Given the description of an element on the screen output the (x, y) to click on. 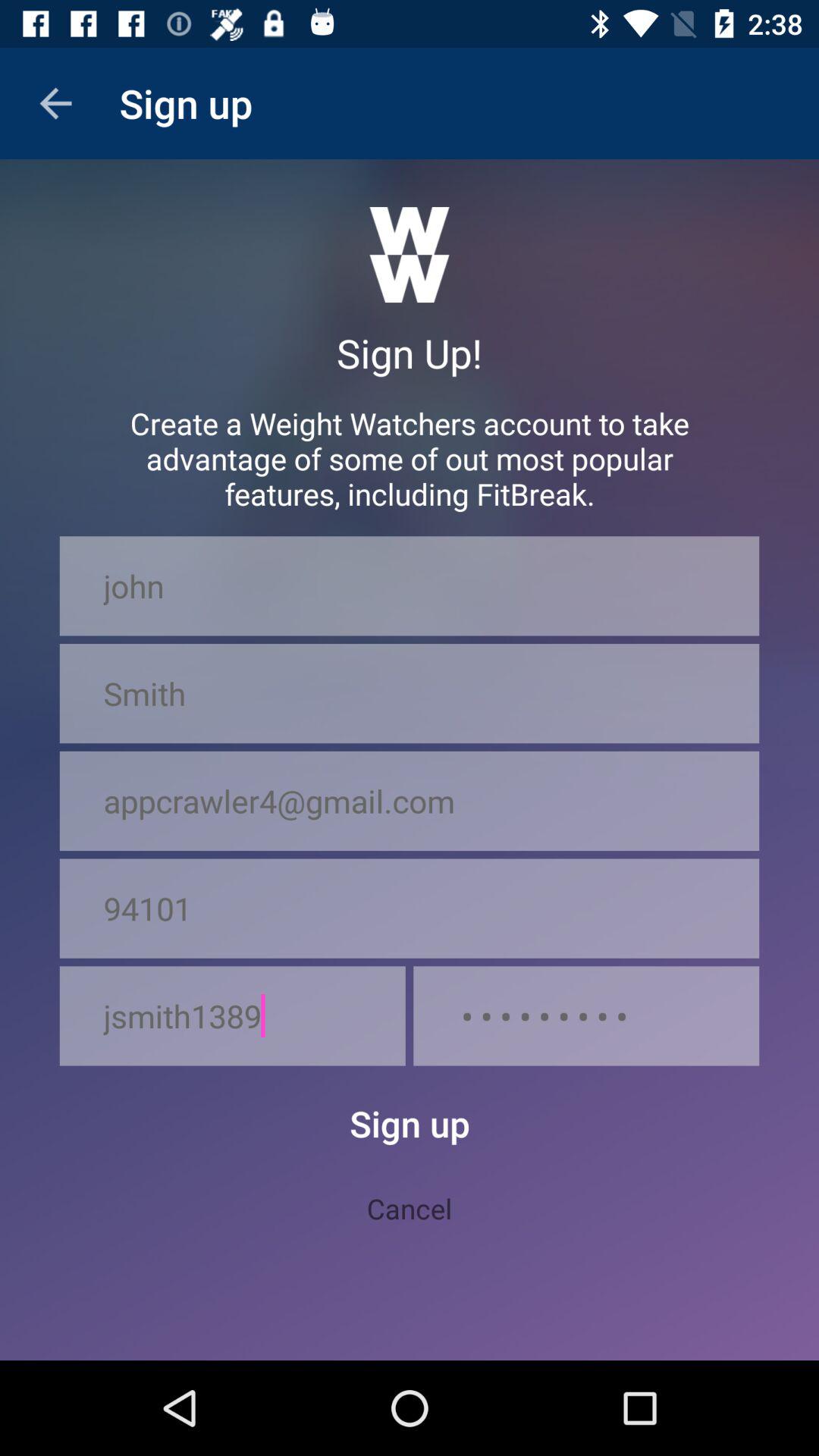
select appcrawler4@gmail.com icon (409, 800)
